Given the description of an element on the screen output the (x, y) to click on. 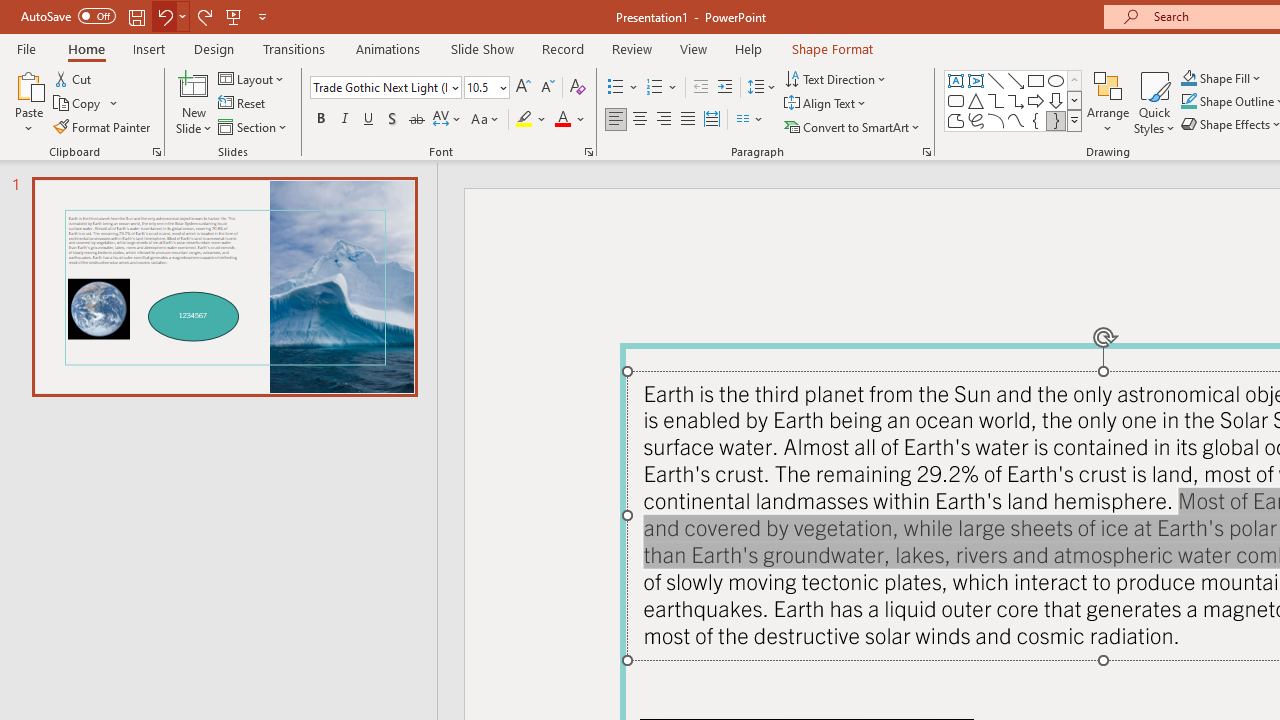
Arc (995, 120)
Increase Font Size (522, 87)
Quick Styles (1154, 102)
Freeform: Scribble (975, 120)
Right Brace (1055, 120)
Convert to SmartArt (853, 126)
Align Left (616, 119)
Strikethrough (416, 119)
